Given the description of an element on the screen output the (x, y) to click on. 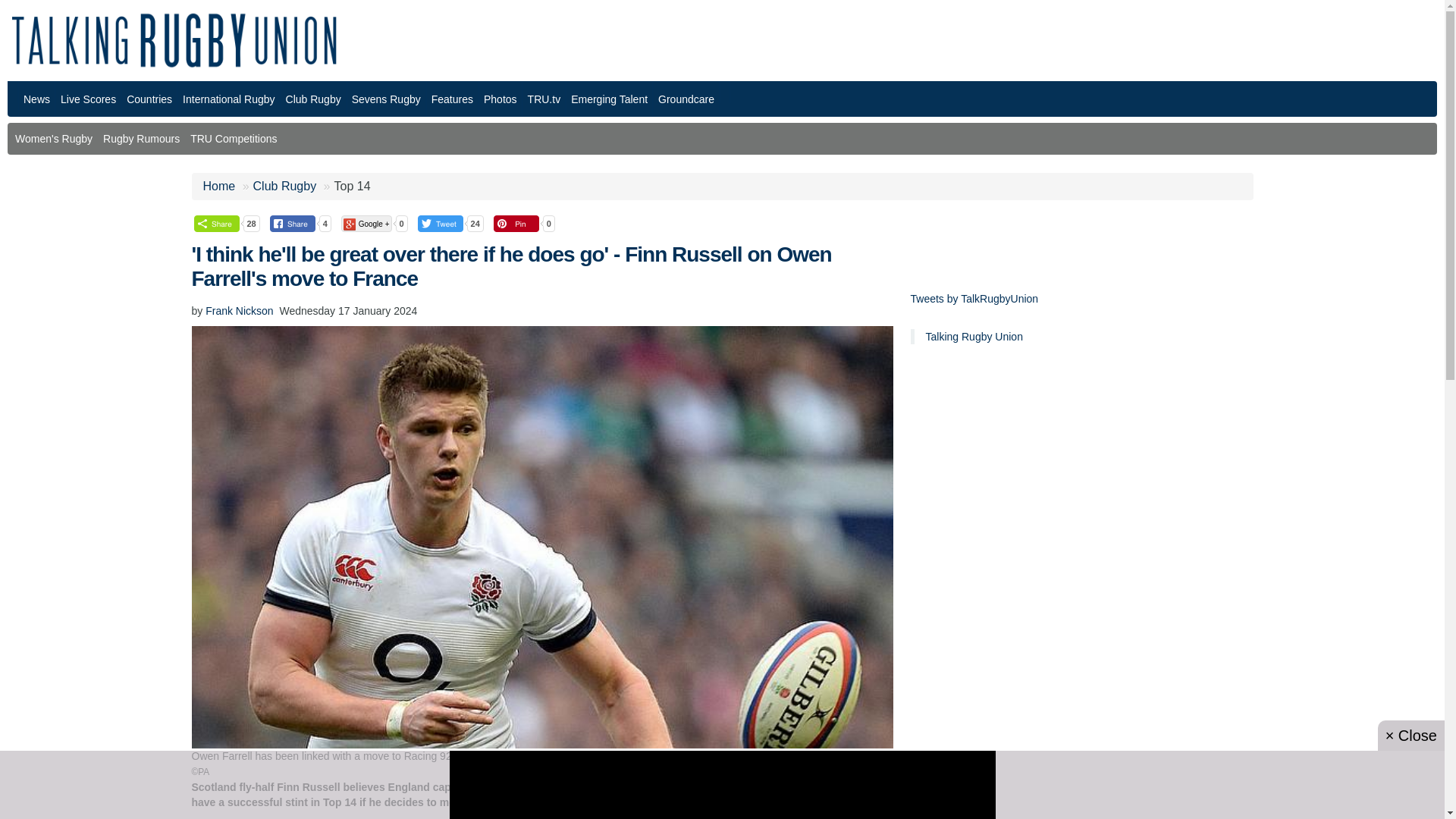
Live Scores (87, 99)
International Rugby (228, 99)
News (36, 99)
Countries (148, 99)
Club Rugby (313, 99)
